Given the description of an element on the screen output the (x, y) to click on. 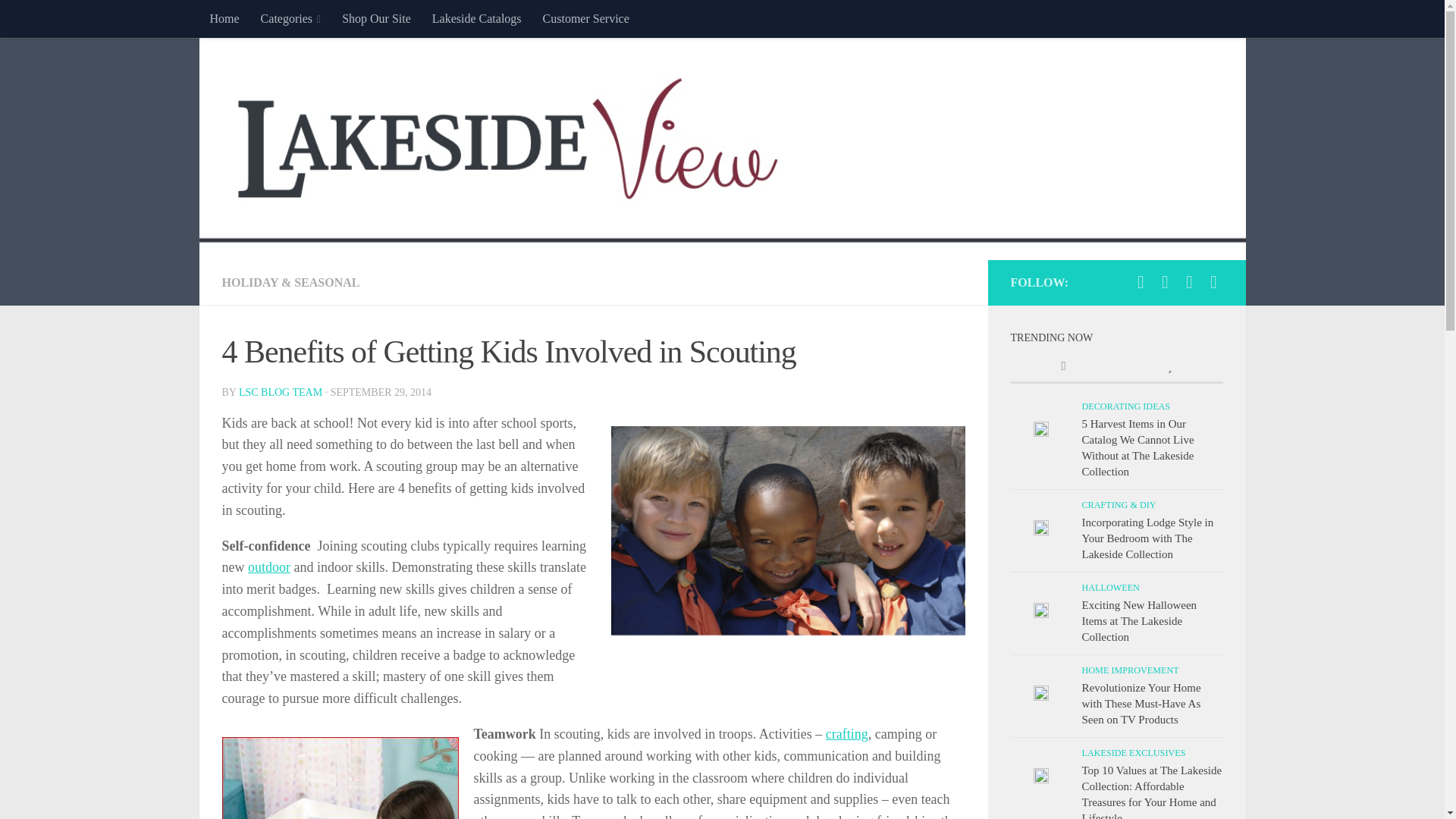
Recent Posts (1063, 367)
Posts by LSC Blog Team (279, 392)
Follow Us On Twitter (1164, 281)
Follow Us On Instagram (1188, 281)
Customer Service (586, 18)
Shop Our Site (376, 18)
Skip to content (59, 20)
Home (223, 18)
Categories (290, 18)
Lakeside Catalogs (477, 18)
